Given the description of an element on the screen output the (x, y) to click on. 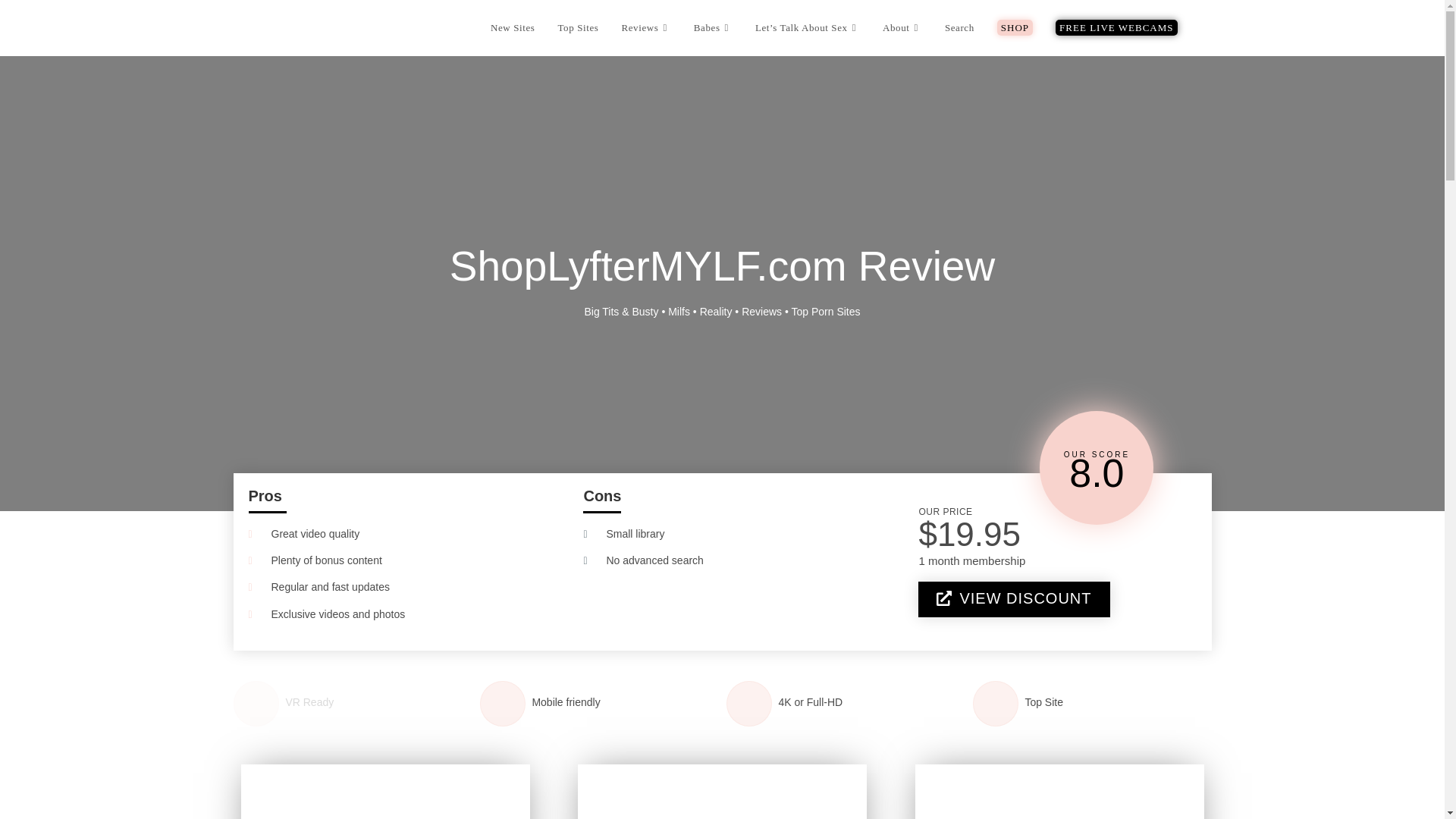
FREE LIVE WEBCAMS (1115, 28)
Reality (716, 311)
Top Sites (578, 28)
Porn Site Reviews (645, 28)
Search (959, 28)
About (901, 28)
Babes (713, 28)
VIEW DISCOUNT (1013, 599)
Reviews (761, 311)
About bad behavior (901, 28)
